Given the description of an element on the screen output the (x, y) to click on. 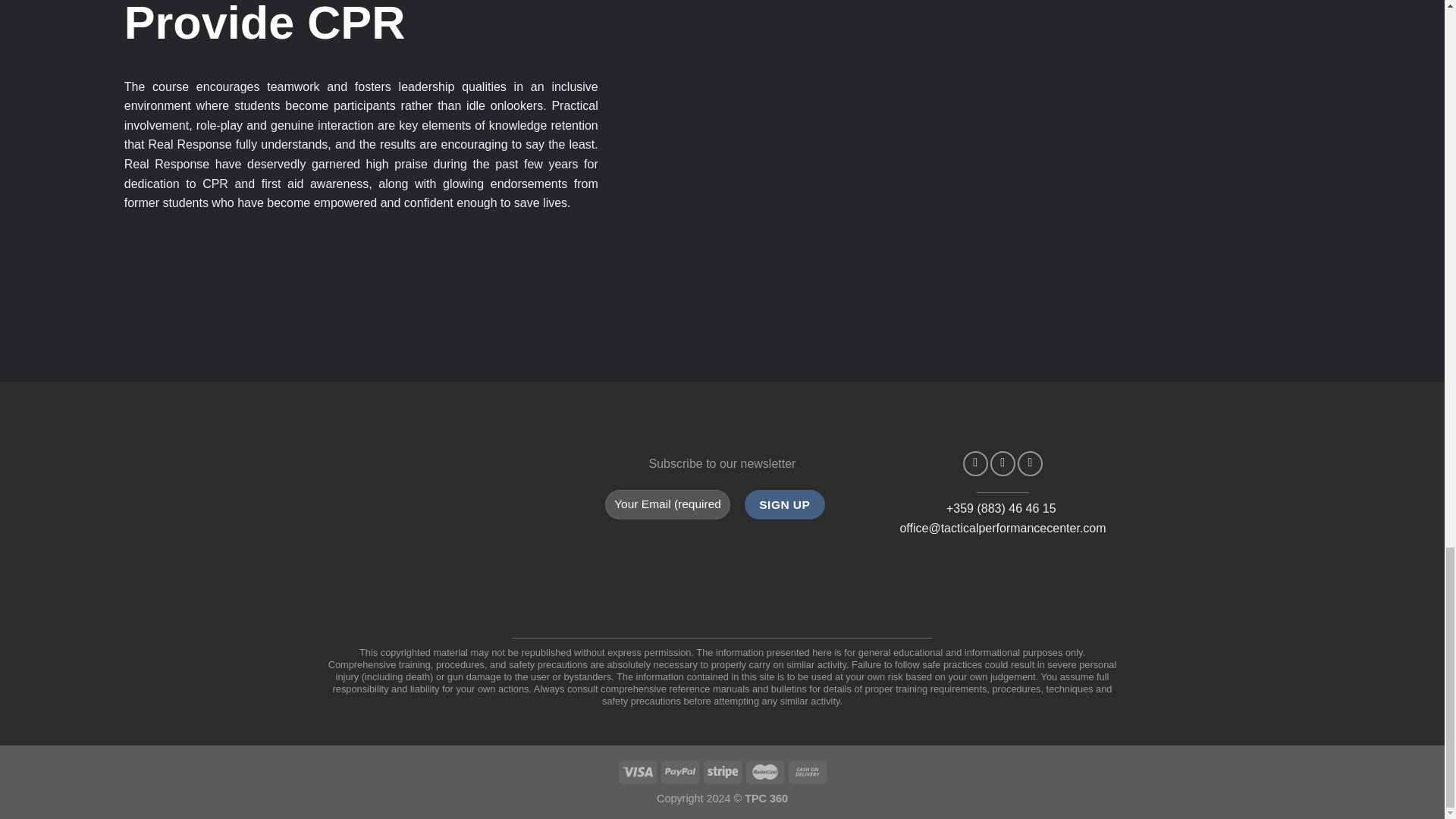
Sign Up (784, 504)
Follow on YouTube (1029, 463)
Follow on Instagram (1002, 463)
Sign Up (784, 504)
Follow on Facebook (975, 463)
CPR (215, 183)
